Given the description of an element on the screen output the (x, y) to click on. 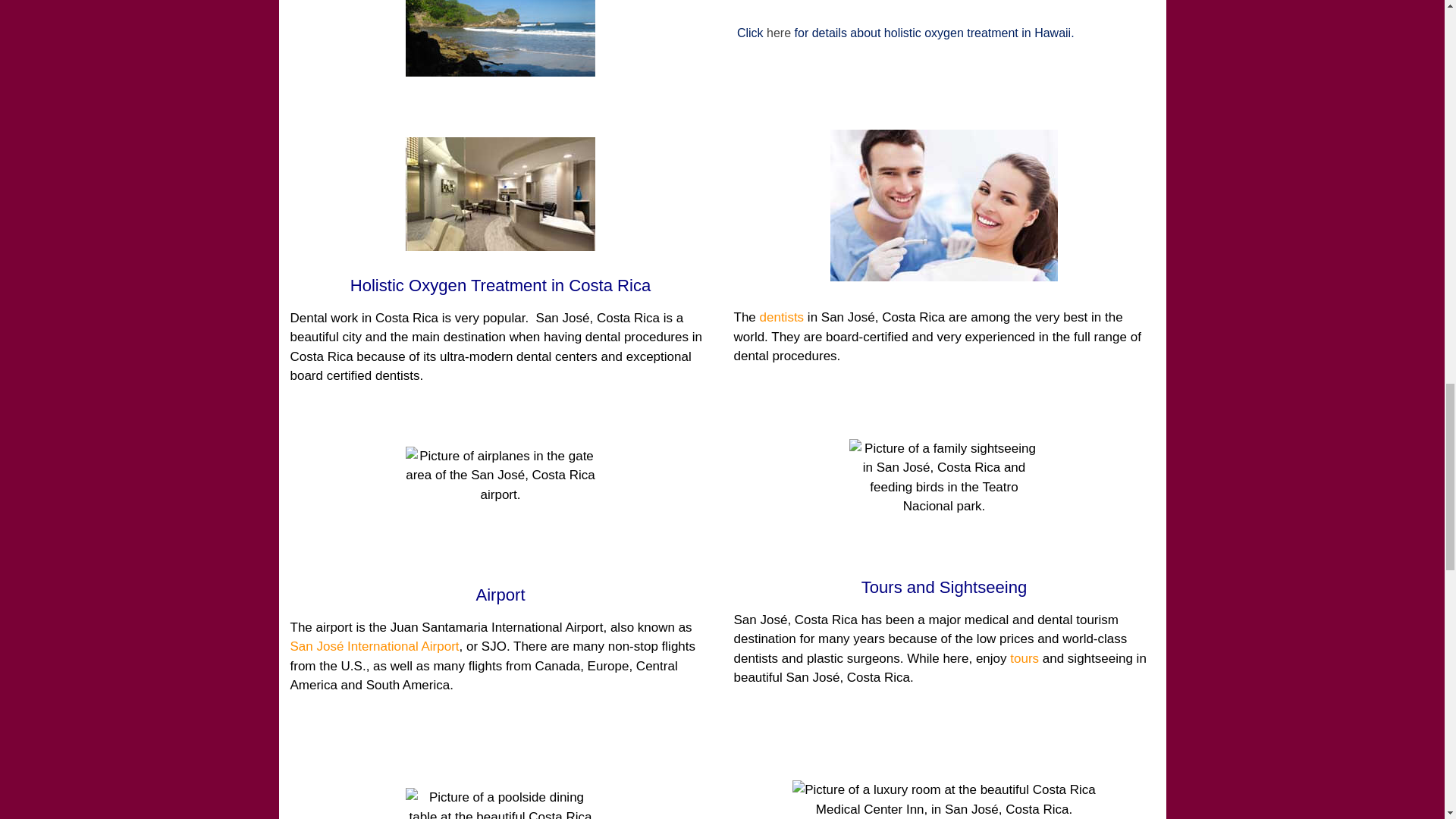
tours (1024, 658)
dentists (782, 317)
here (778, 32)
city-tour (943, 495)
dentist-and-patient (943, 205)
junior-suite-bedroom (944, 799)
dental-office (500, 193)
packages-picture (500, 38)
restaurant-and-pool (500, 803)
san-jose-airport (500, 503)
